Given the description of an element on the screen output the (x, y) to click on. 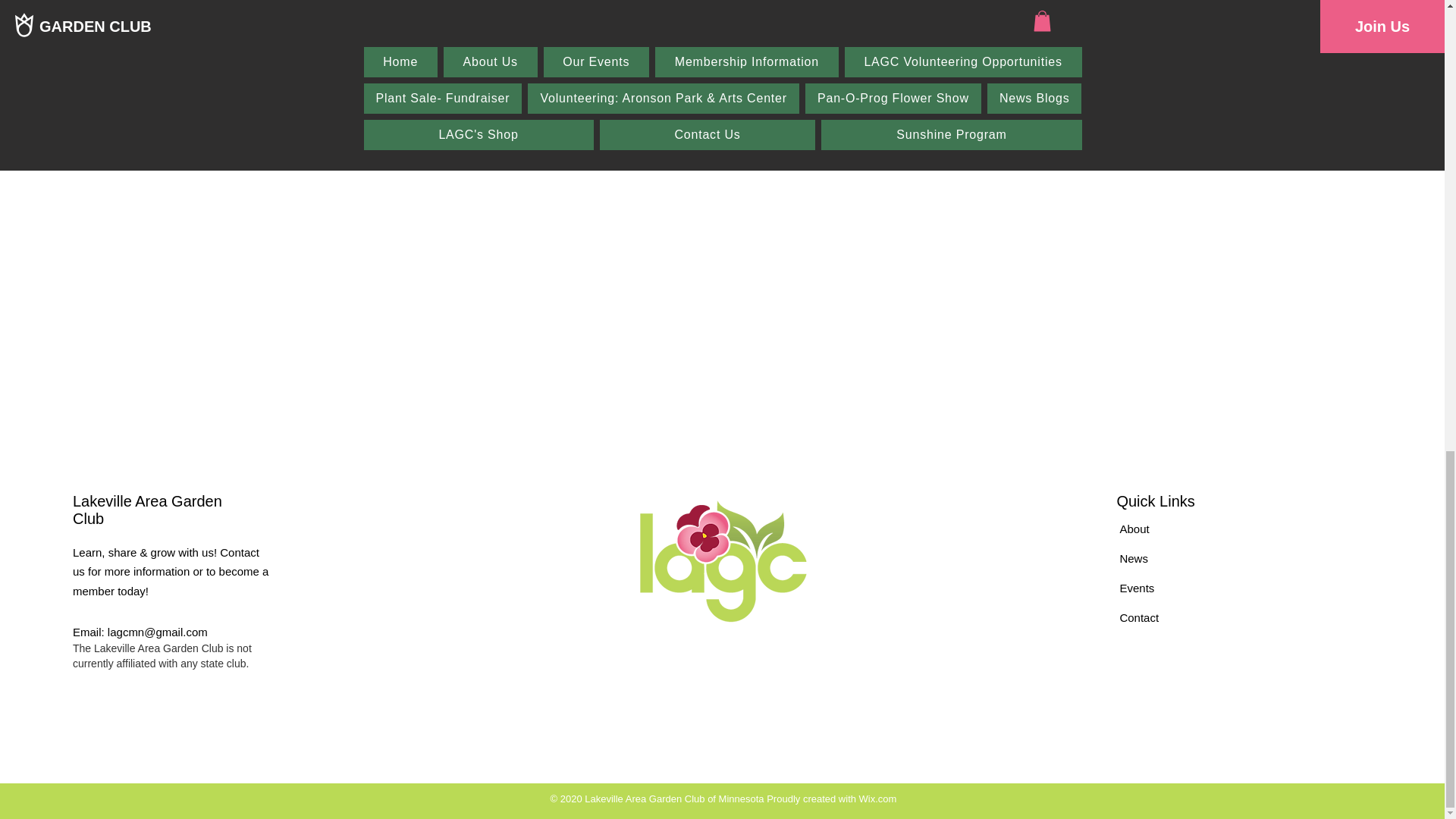
Wix.com (877, 798)
News (1133, 558)
Events (1136, 587)
About (1133, 528)
Contact (1138, 617)
